Given the description of an element on the screen output the (x, y) to click on. 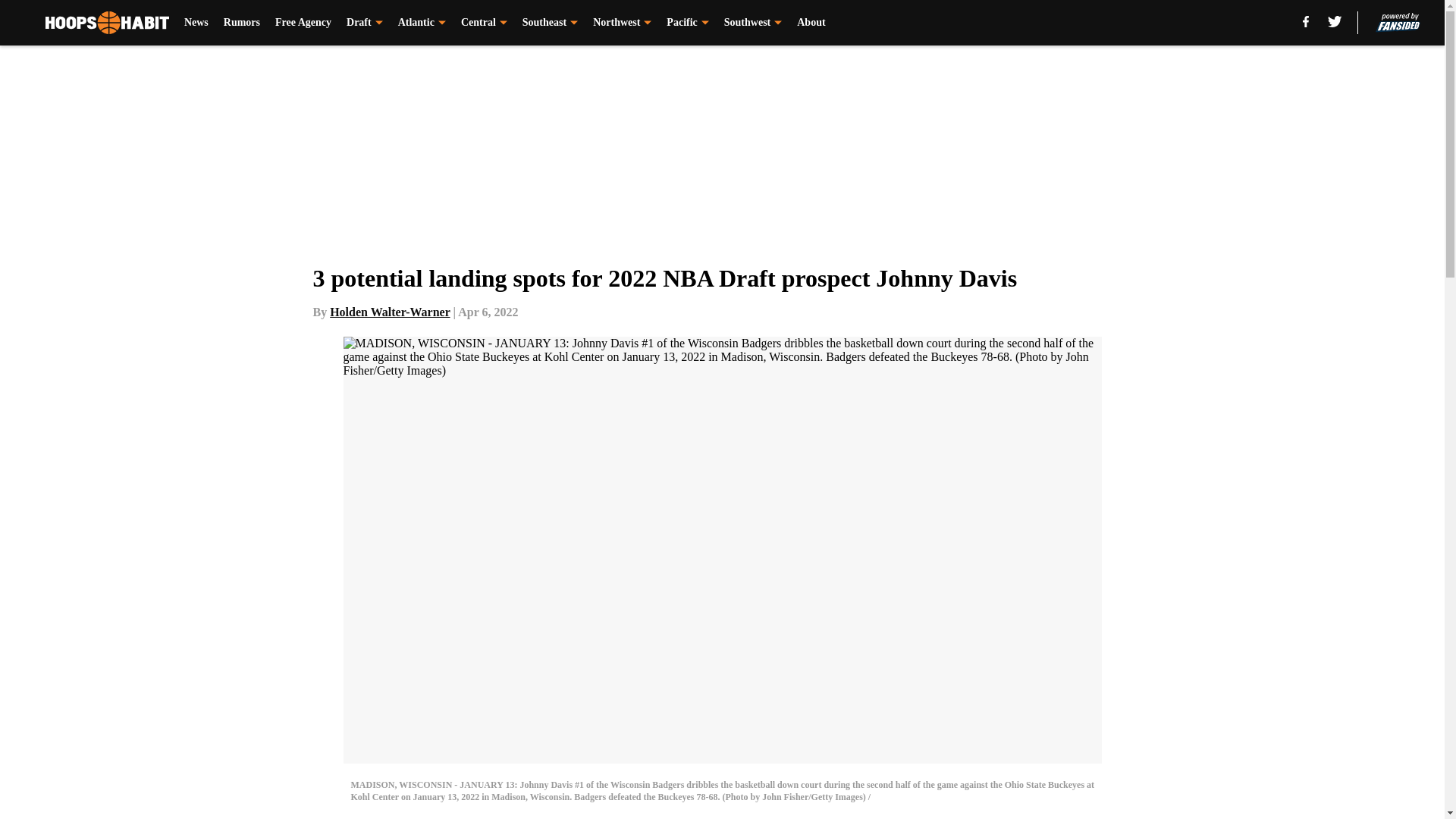
Atlantic (421, 22)
Rumors (242, 22)
Free Agency (303, 22)
Draft (364, 22)
Central (483, 22)
Northwest (621, 22)
News (196, 22)
Southeast (550, 22)
